Given the description of an element on the screen output the (x, y) to click on. 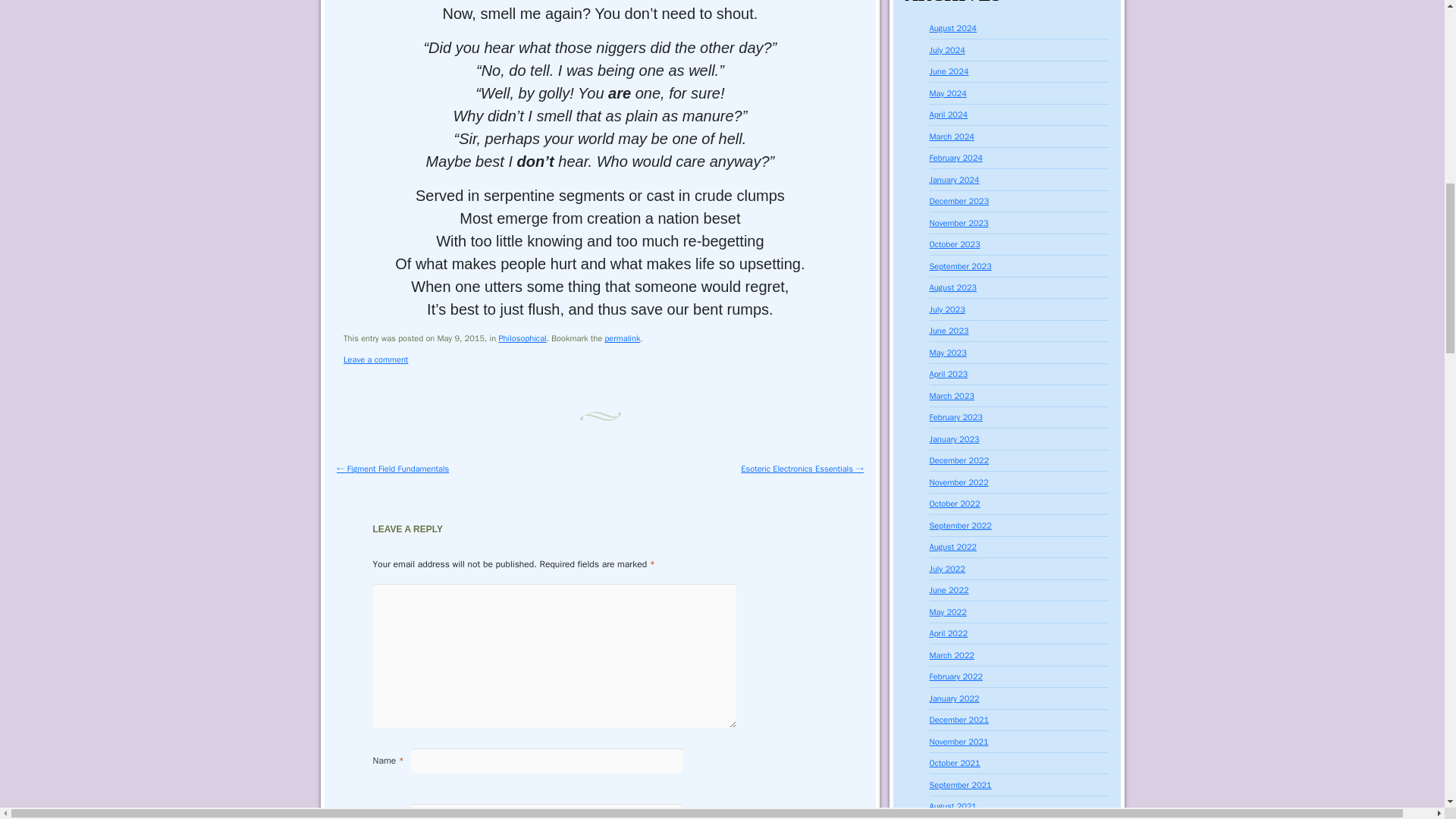
June 2024 (949, 71)
Philosophical (521, 337)
Leave a comment (375, 358)
May 2024 (948, 92)
Permalink to Benefit of Doubt (622, 337)
July 2024 (947, 50)
February 2024 (956, 157)
August 2024 (953, 27)
permalink (622, 337)
March 2024 (952, 136)
